Given the description of an element on the screen output the (x, y) to click on. 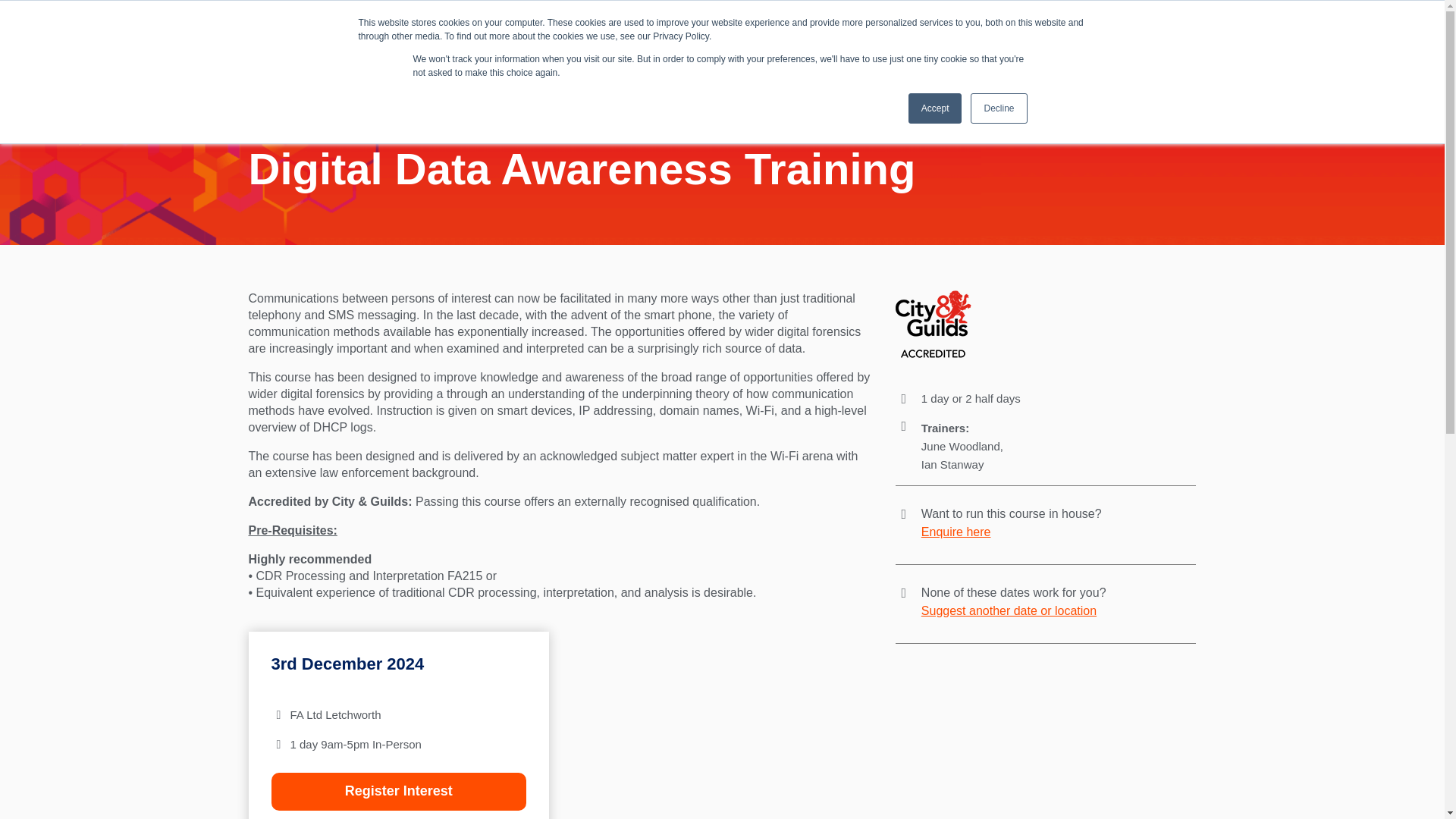
Services (526, 56)
Training (586, 56)
About (409, 56)
Decline (998, 108)
Accept (935, 108)
Contact (793, 56)
Request demo (1054, 42)
Customer Portal (713, 56)
Solutions (463, 56)
